Given the description of an element on the screen output the (x, y) to click on. 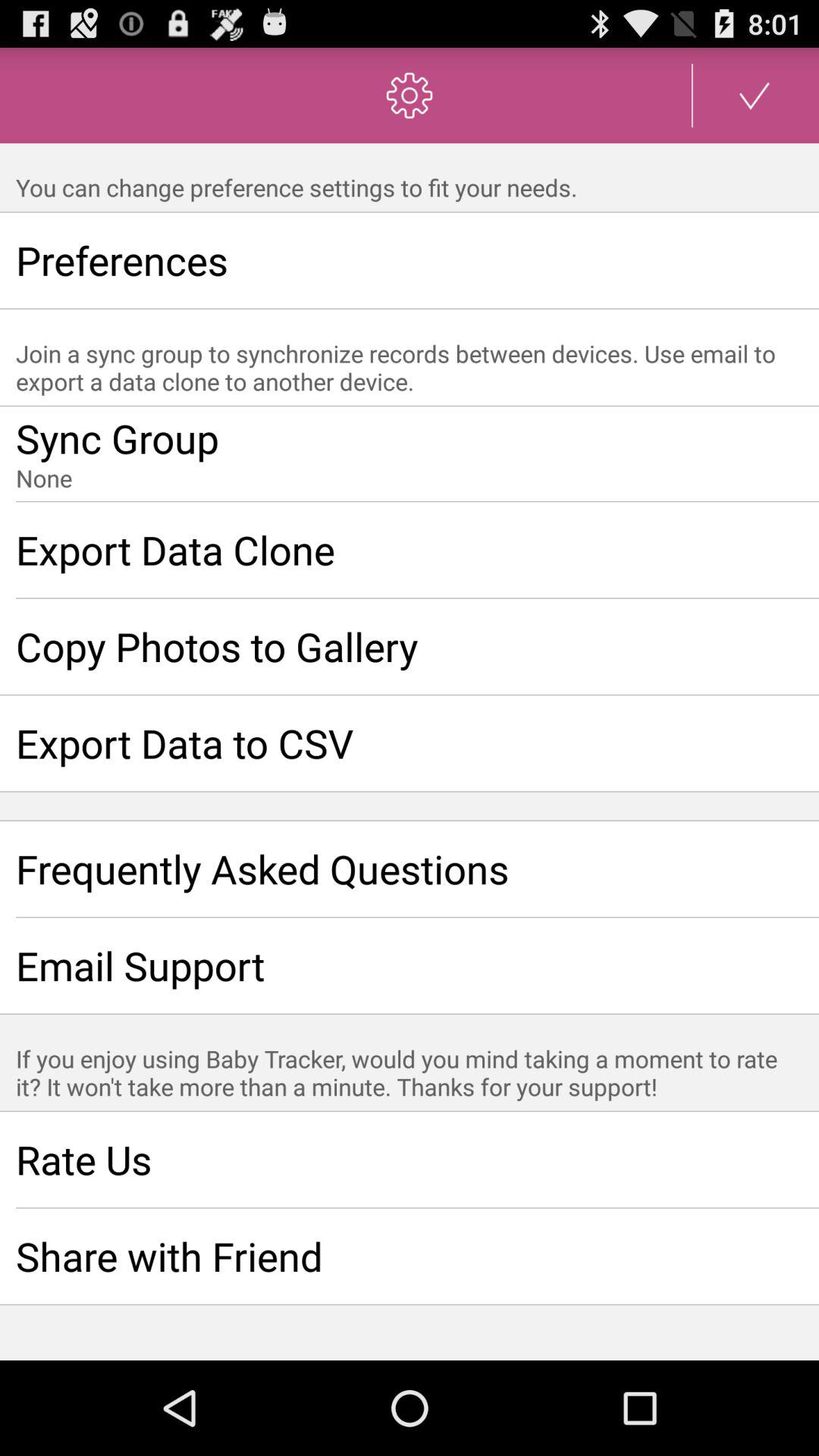
scroll until email support icon (409, 965)
